Given the description of an element on the screen output the (x, y) to click on. 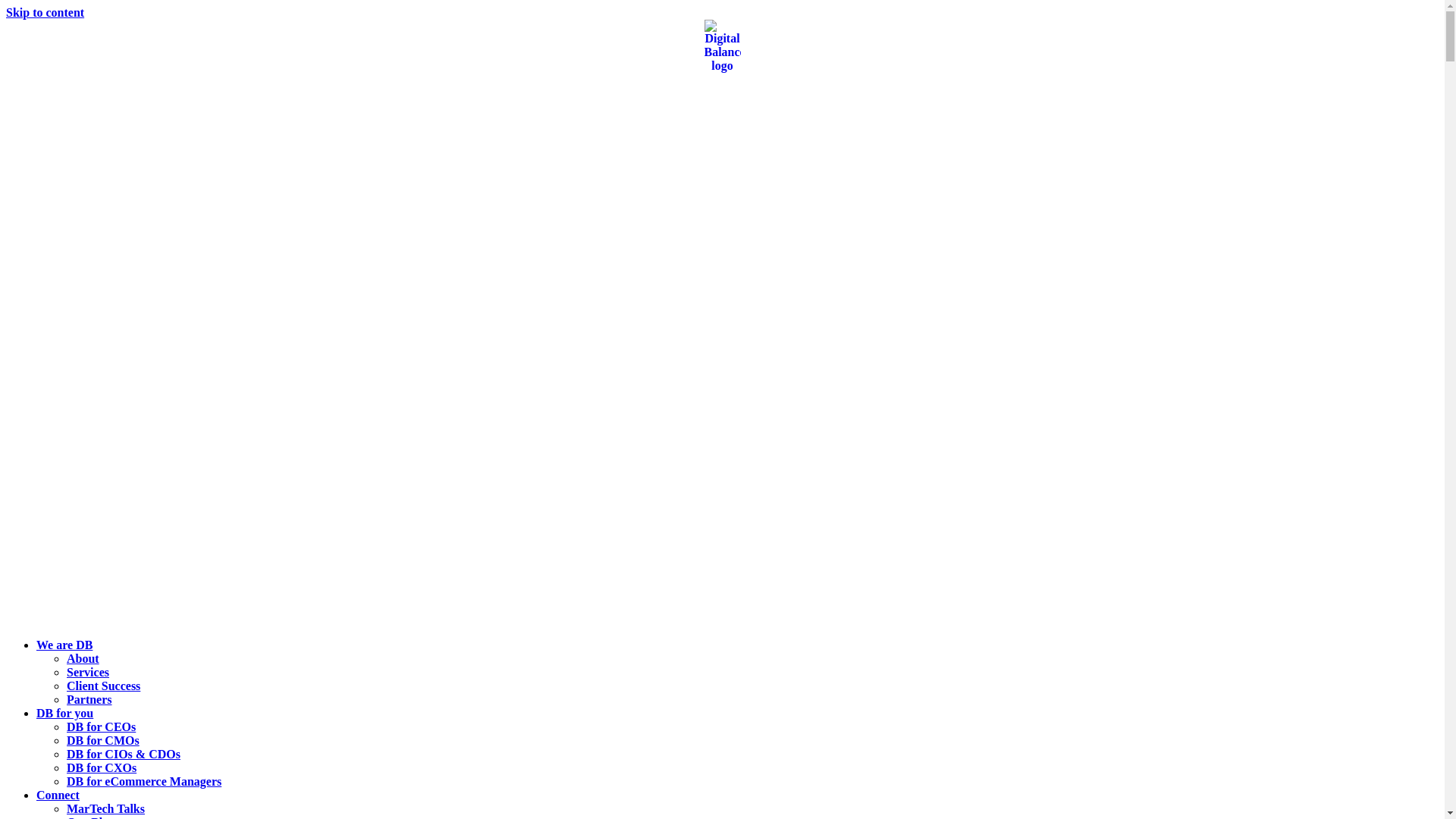
MarTech Talks Element type: text (105, 808)
Connect Element type: text (57, 794)
DB for CXOs Element type: text (101, 767)
Services Element type: text (87, 671)
DB for CIOs & CDOs Element type: text (123, 753)
Client Success Element type: text (103, 685)
Partners Element type: text (89, 699)
DB for CMOs Element type: text (102, 740)
DB for eCommerce Managers Element type: text (143, 781)
DB for you Element type: text (64, 712)
DB for CEOs Element type: text (100, 726)
We are DB Element type: text (64, 644)
About Element type: text (82, 658)
Skip to content Element type: text (45, 12)
